Given the description of an element on the screen output the (x, y) to click on. 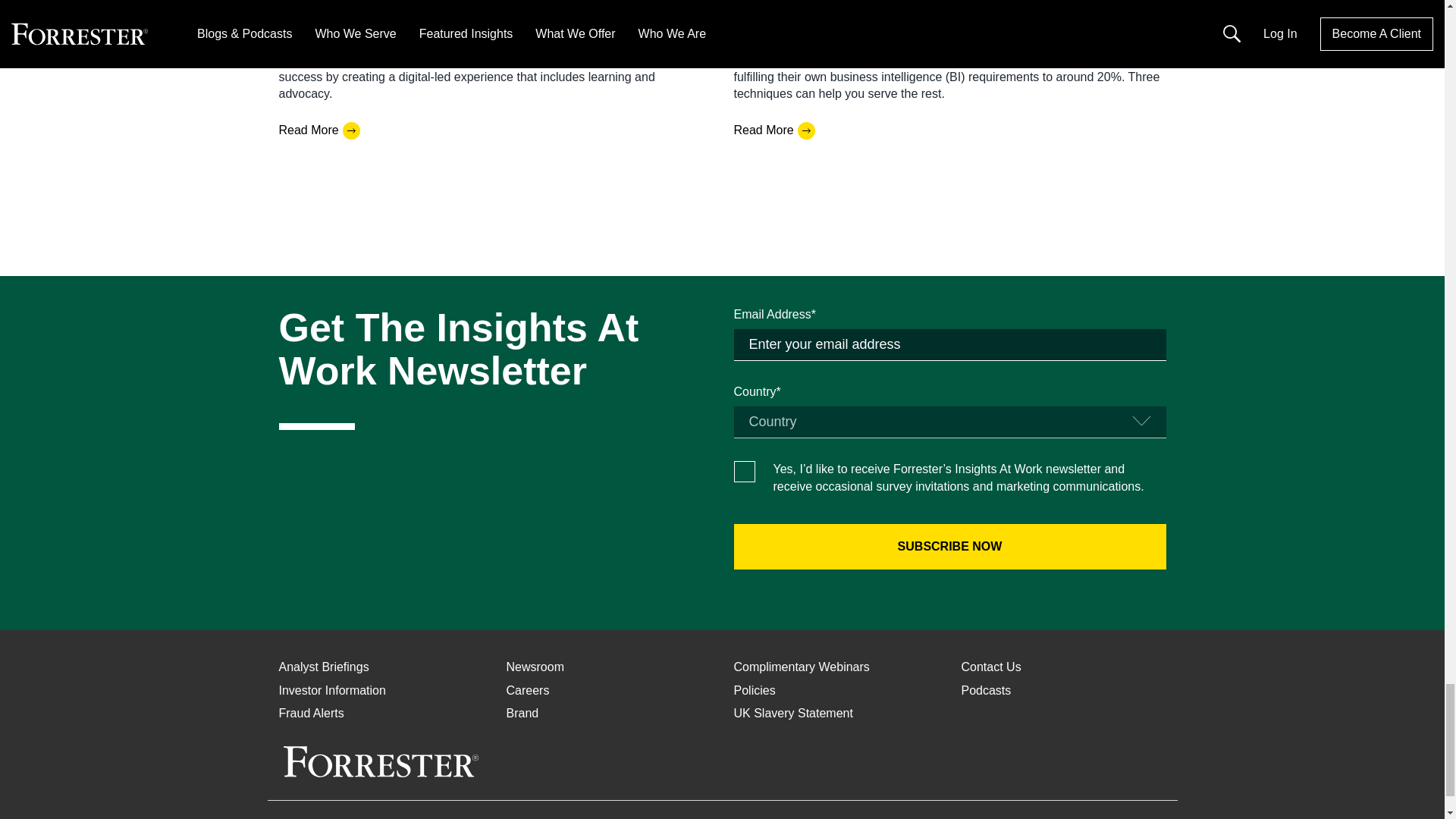
Subscribe Now (949, 546)
Boris Evelson (770, 3)
Laura Ramos (315, 3)
